Given the description of an element on the screen output the (x, y) to click on. 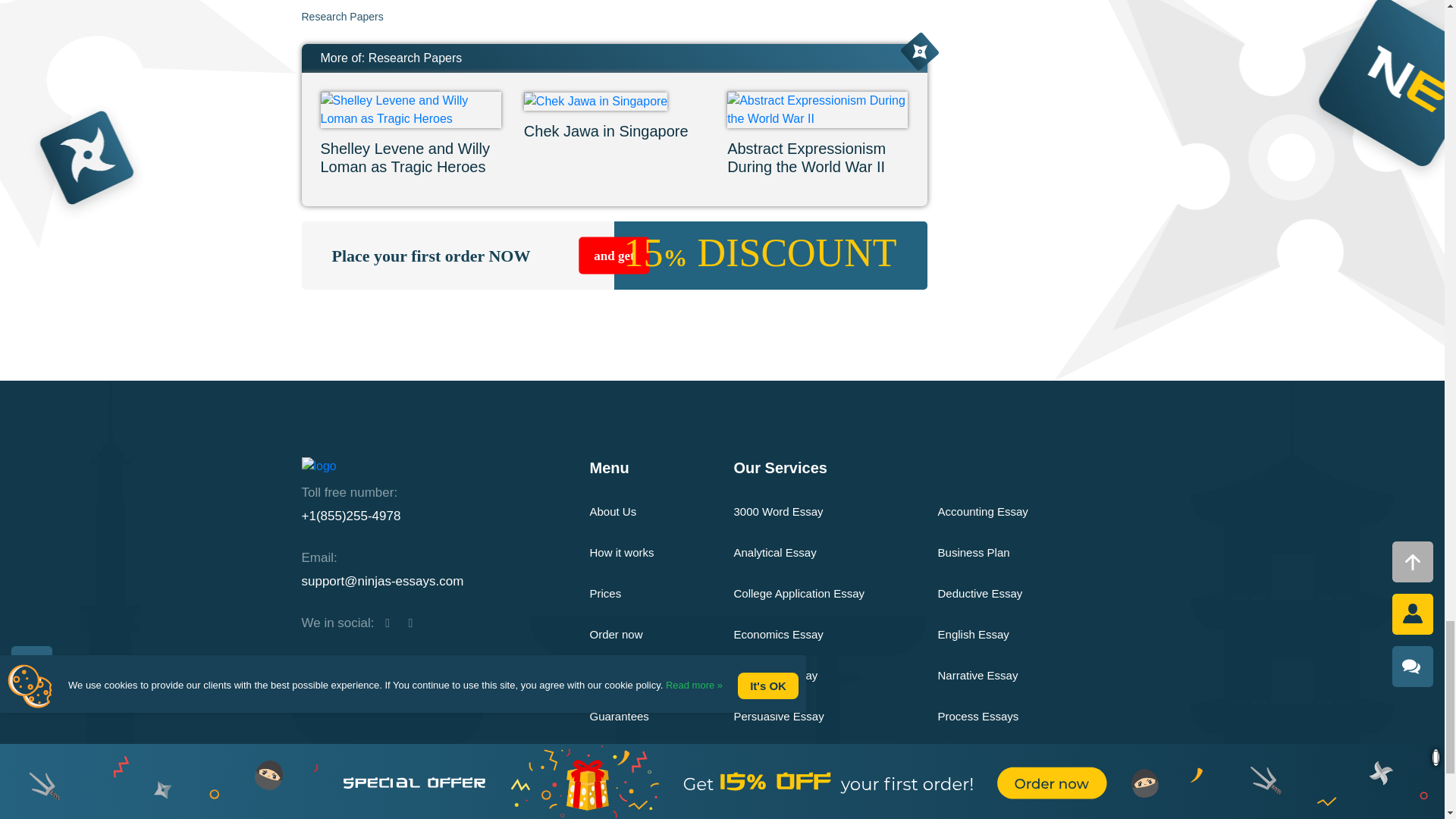
Read more (410, 175)
Read more (816, 175)
Read more (614, 145)
